Given the description of an element on the screen output the (x, y) to click on. 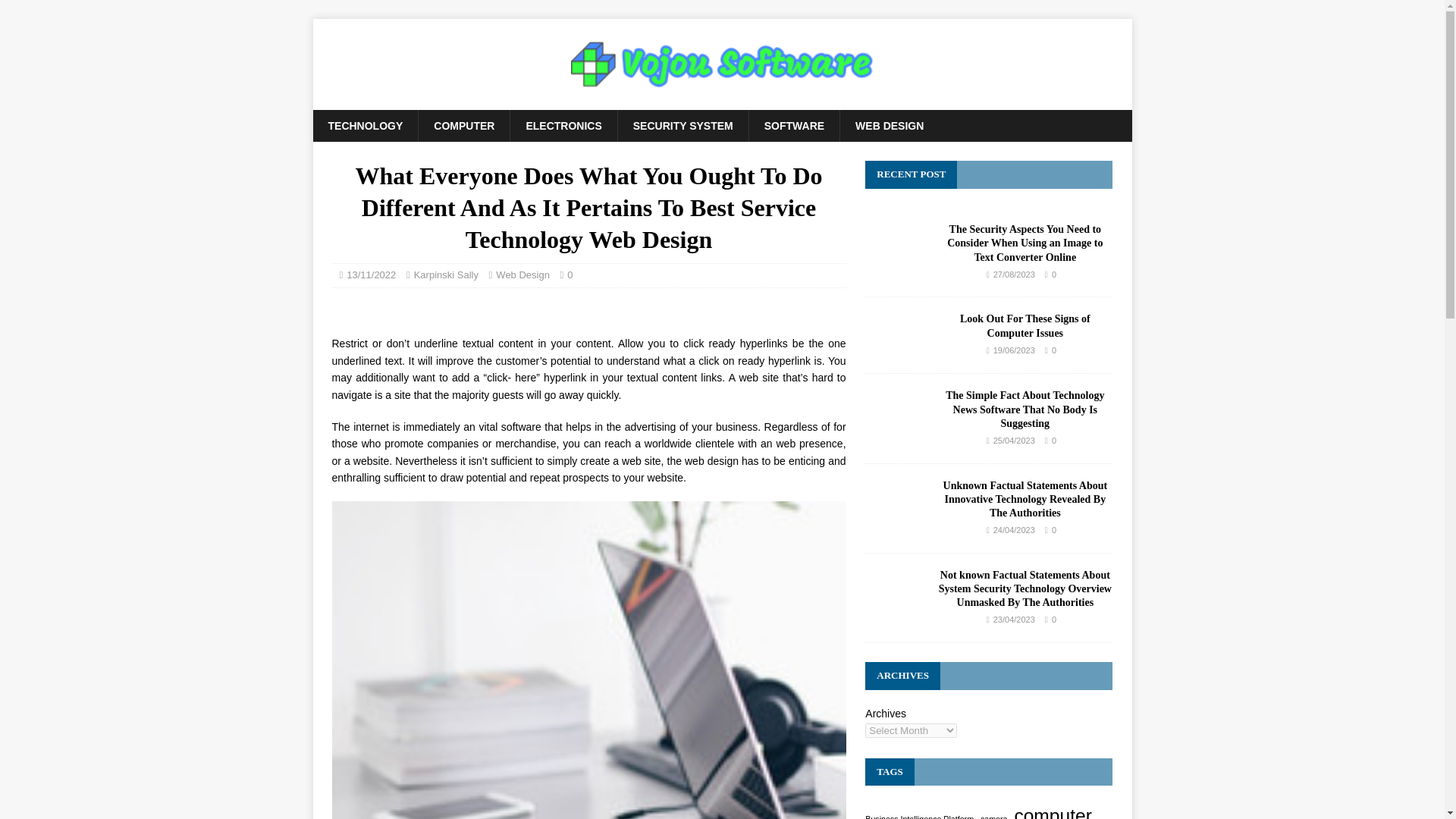
Karpinski Sally (446, 274)
WEB DESIGN (889, 125)
Look Out For These Signs of Computer Issues (895, 334)
ELECTRONICS (562, 125)
camera (993, 816)
Look Out For These Signs of Computer Issues (895, 349)
